Given the description of an element on the screen output the (x, y) to click on. 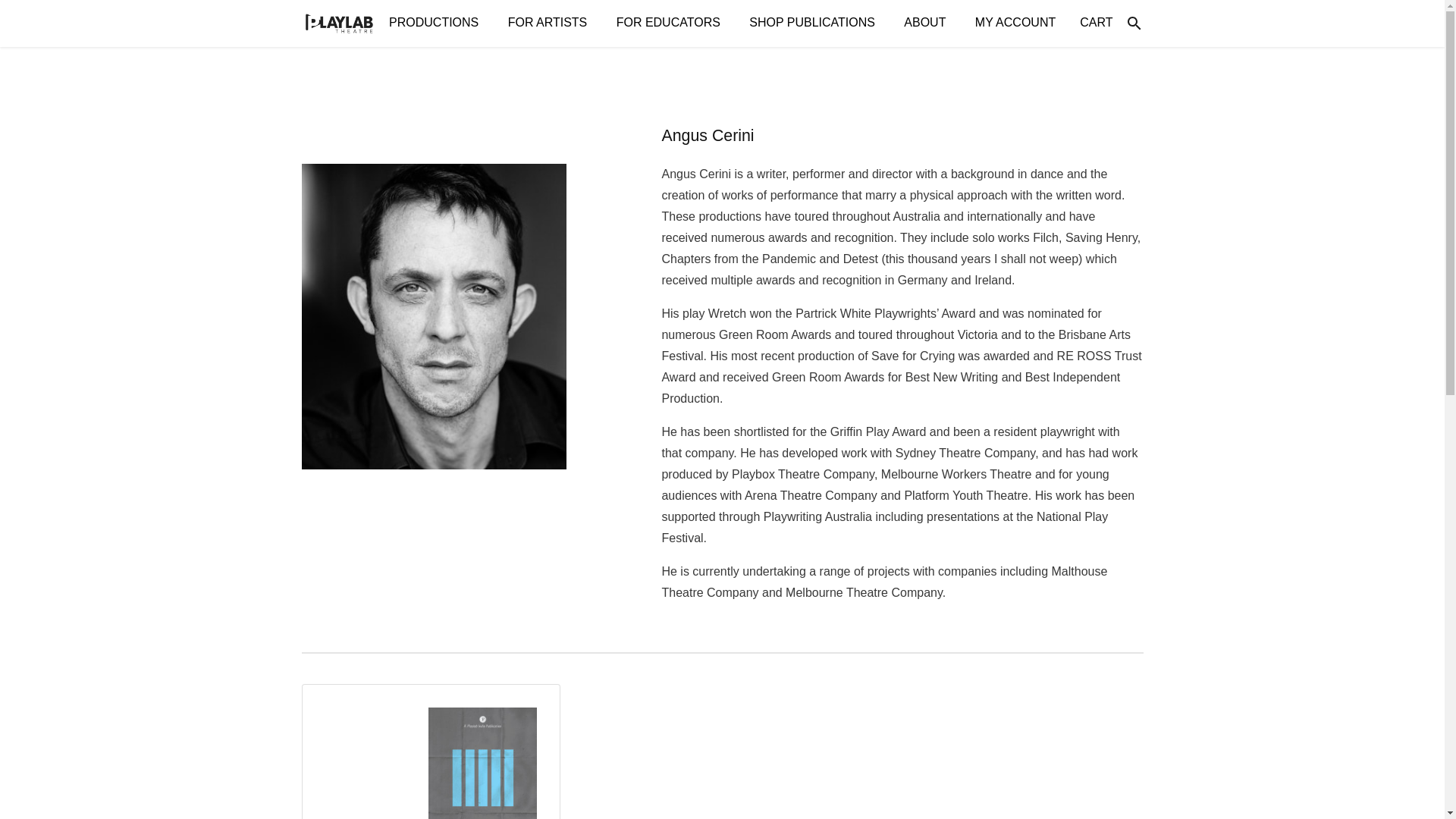
FOR ARTISTS (550, 23)
PRODUCTIONS (436, 23)
FOR EDUCATORS (671, 23)
